Given the description of an element on the screen output the (x, y) to click on. 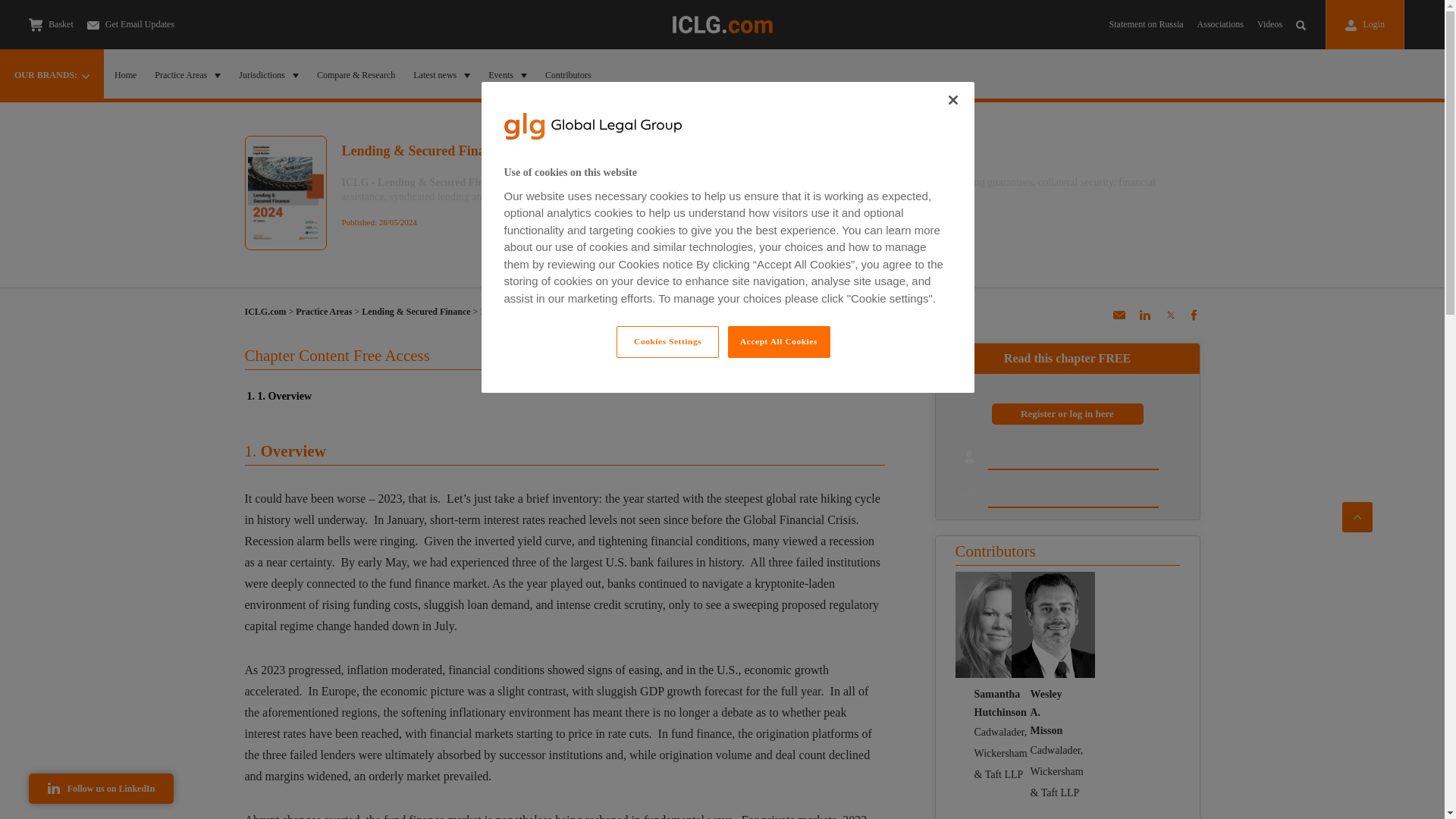
View basket (35, 24)
Samantha Hutchinson (997, 624)
Share on LinkedIn (1144, 319)
Practice Areas (187, 74)
Latest news (441, 74)
OUR BRANDS: (51, 74)
Videos (1269, 24)
Share on Twitter (1169, 319)
Statement on Russia (1146, 24)
Basket (51, 24)
Associations (1219, 24)
Share on Facebook (1193, 319)
Get Email Updates (130, 24)
Send this link in email (1118, 319)
Login (1364, 24)
